Given the description of an element on the screen output the (x, y) to click on. 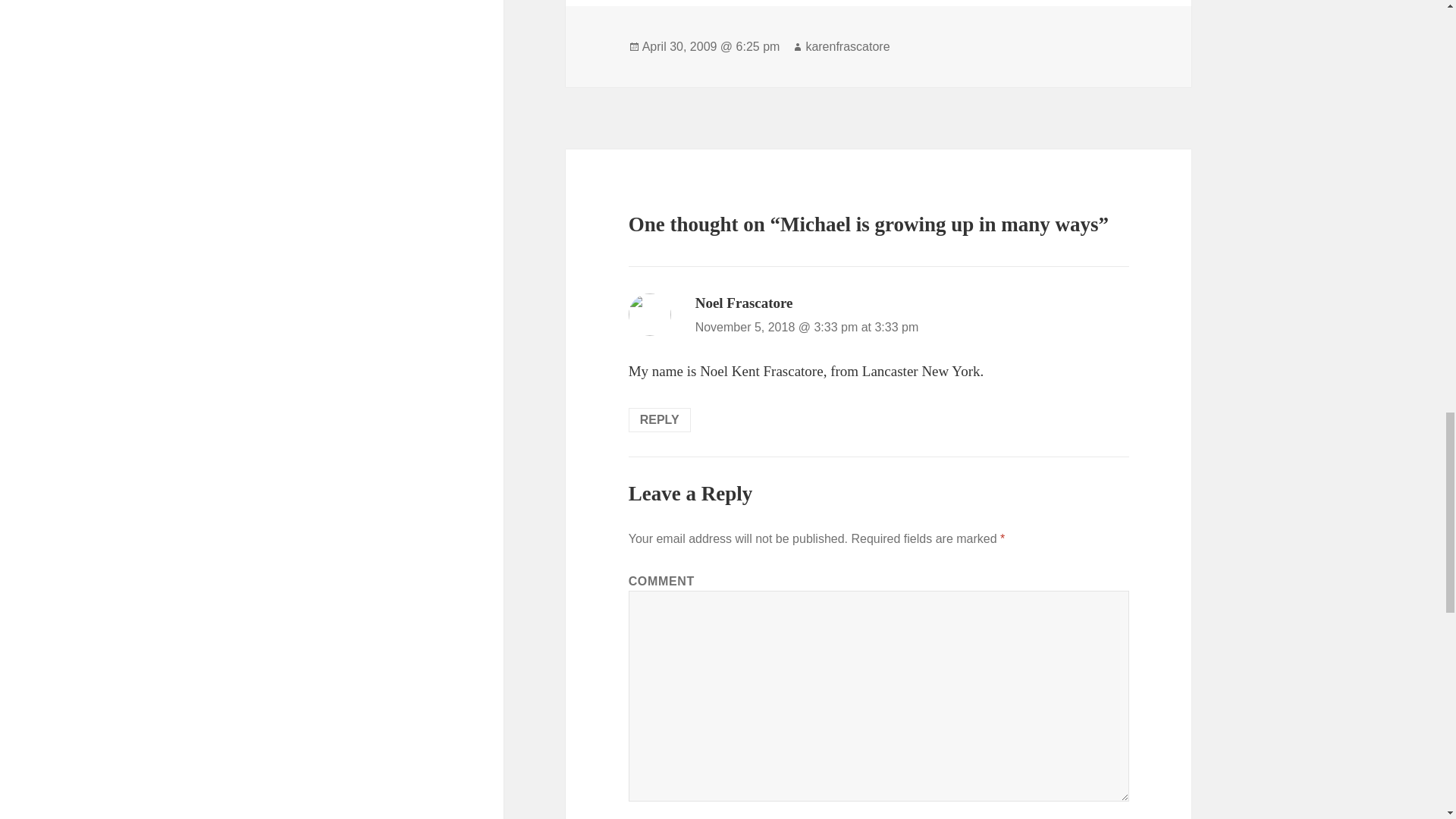
REPLY (659, 419)
Noel Frascatore (744, 302)
karenfrascatore (847, 47)
